Given the description of an element on the screen output the (x, y) to click on. 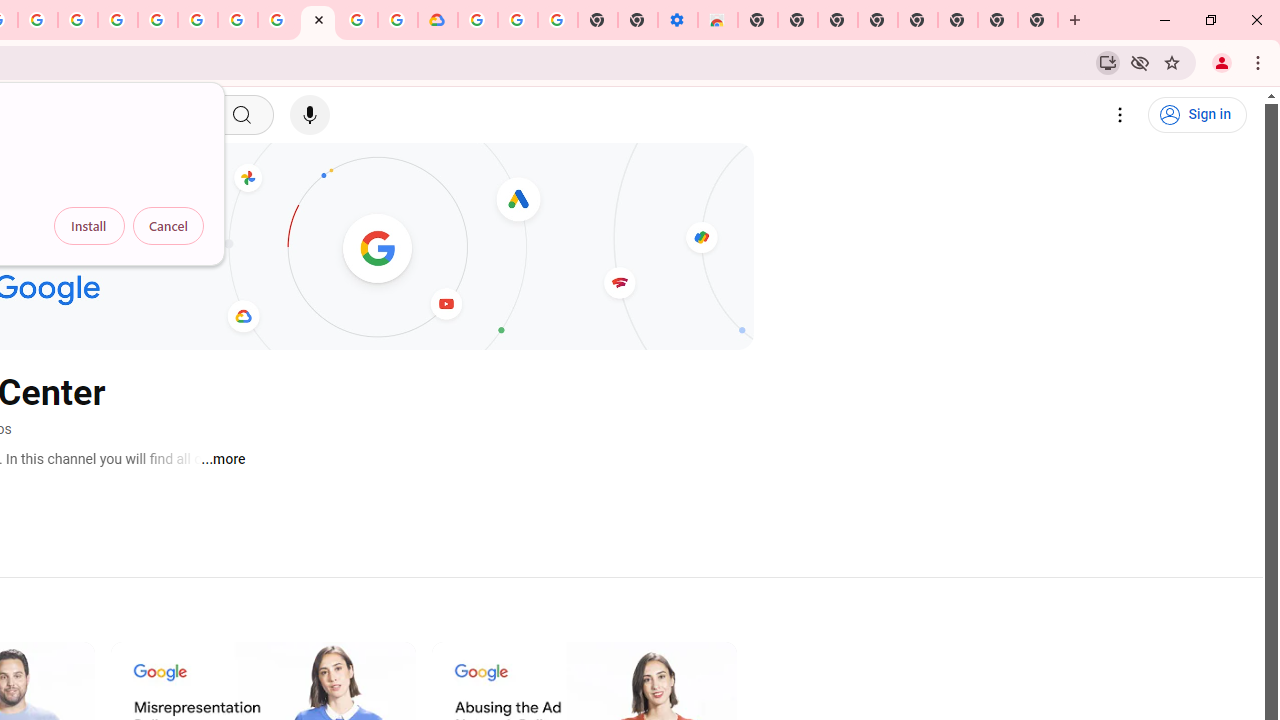
Google Account Help (517, 20)
Create your Google Account (357, 20)
Ad Settings (118, 20)
New Tab (1037, 20)
Sign in - Google Accounts (157, 20)
Settings - Accessibility (677, 20)
Chrome Web Store - Accessibility extensions (717, 20)
Search with your voice (309, 115)
